Given the description of an element on the screen output the (x, y) to click on. 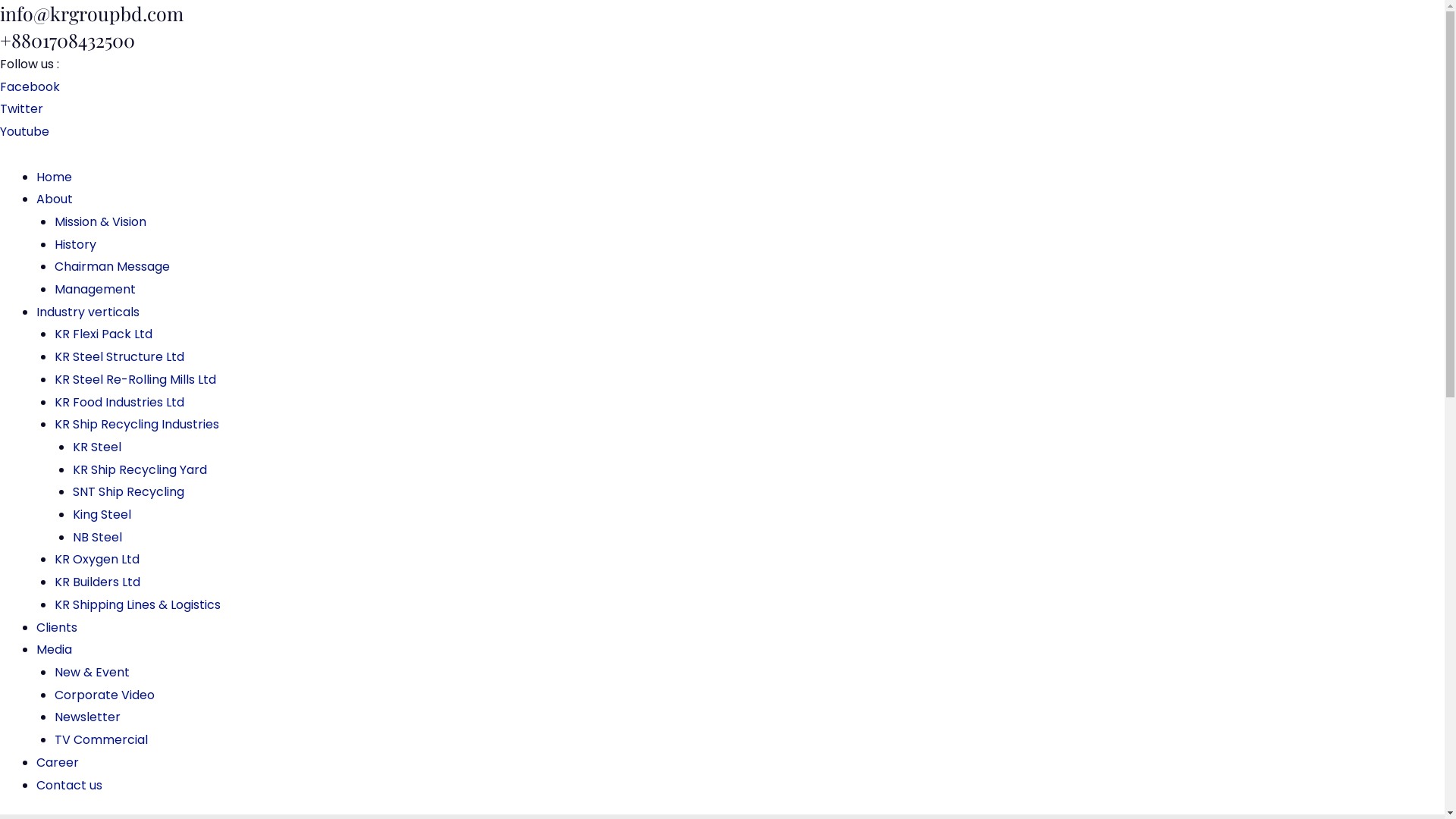
Contact us Element type: text (69, 784)
KR Shipping Lines & Logistics Element type: text (137, 604)
King Steel Element type: text (101, 514)
KR Steel Re-Rolling Mills Ltd Element type: text (135, 379)
KR Food Industries Ltd Element type: text (119, 402)
Clients Element type: text (56, 627)
Career Element type: text (57, 762)
Facebook Element type: text (29, 86)
TV Commercial Element type: text (100, 739)
Industry verticals Element type: text (87, 311)
Mission & Vision Element type: text (100, 221)
Youtube Element type: text (24, 131)
History Element type: text (75, 244)
KR Ship Recycling Yard Element type: text (139, 469)
Media Element type: text (54, 649)
SNT Ship Recycling Element type: text (128, 491)
Home Element type: text (54, 176)
KR Steel Element type: text (96, 446)
Corporate Video Element type: text (104, 694)
Management Element type: text (94, 289)
NB Steel Element type: text (97, 537)
Twitter Element type: text (21, 108)
New & Event Element type: text (91, 671)
KR Flexi Pack Ltd Element type: text (103, 333)
About Element type: text (54, 198)
Chairman Message Element type: text (111, 266)
Newsletter Element type: text (87, 716)
KR Oxygen Ltd Element type: text (96, 558)
KR Ship Recycling Industries Element type: text (136, 424)
KR Steel Structure Ltd Element type: text (119, 356)
KR Builders Ltd Element type: text (97, 581)
